Given the description of an element on the screen output the (x, y) to click on. 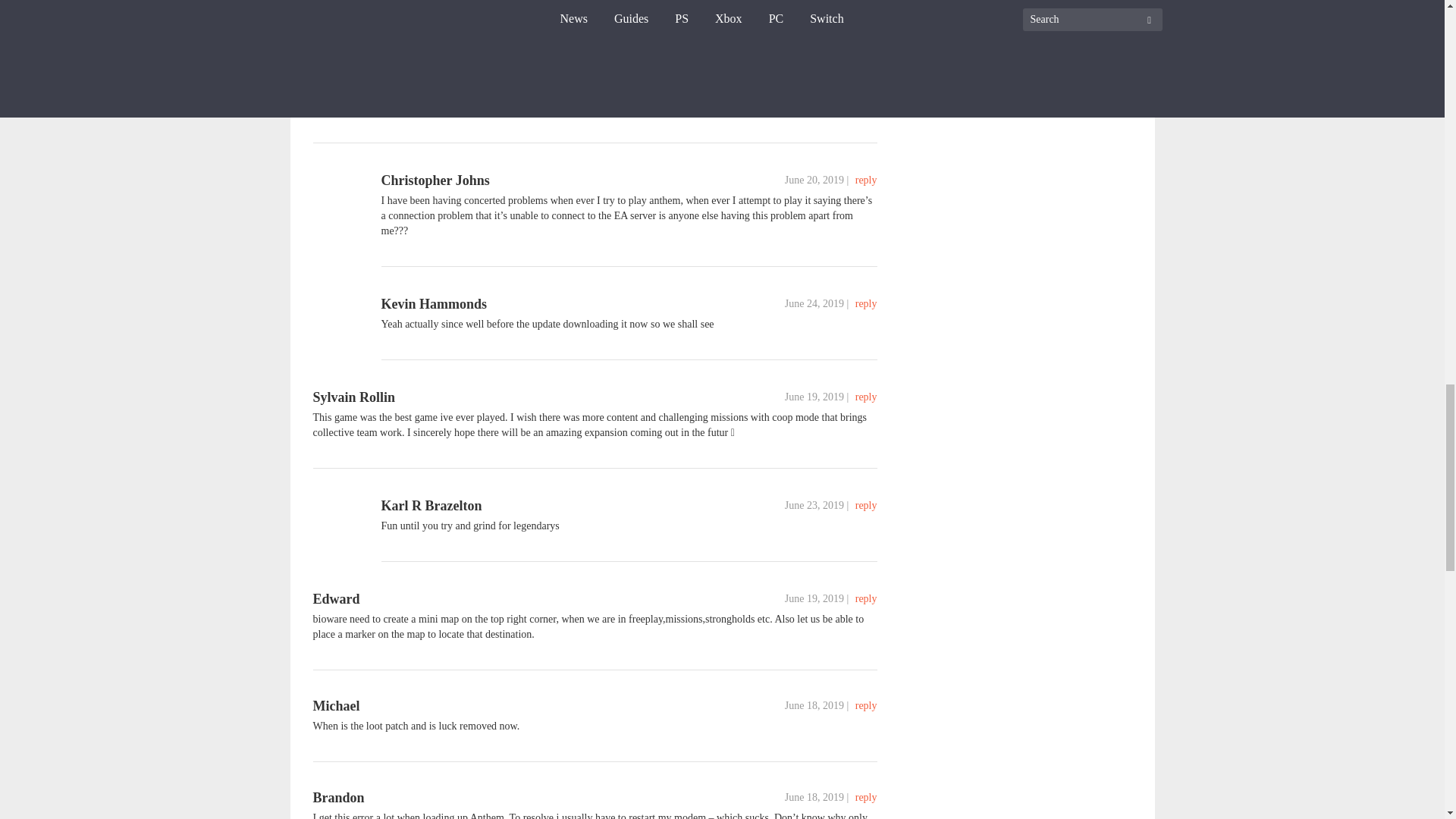
Christopher Johns (366, 71)
reply (866, 179)
reply (866, 71)
Christopher Johns (434, 180)
